Given the description of an element on the screen output the (x, y) to click on. 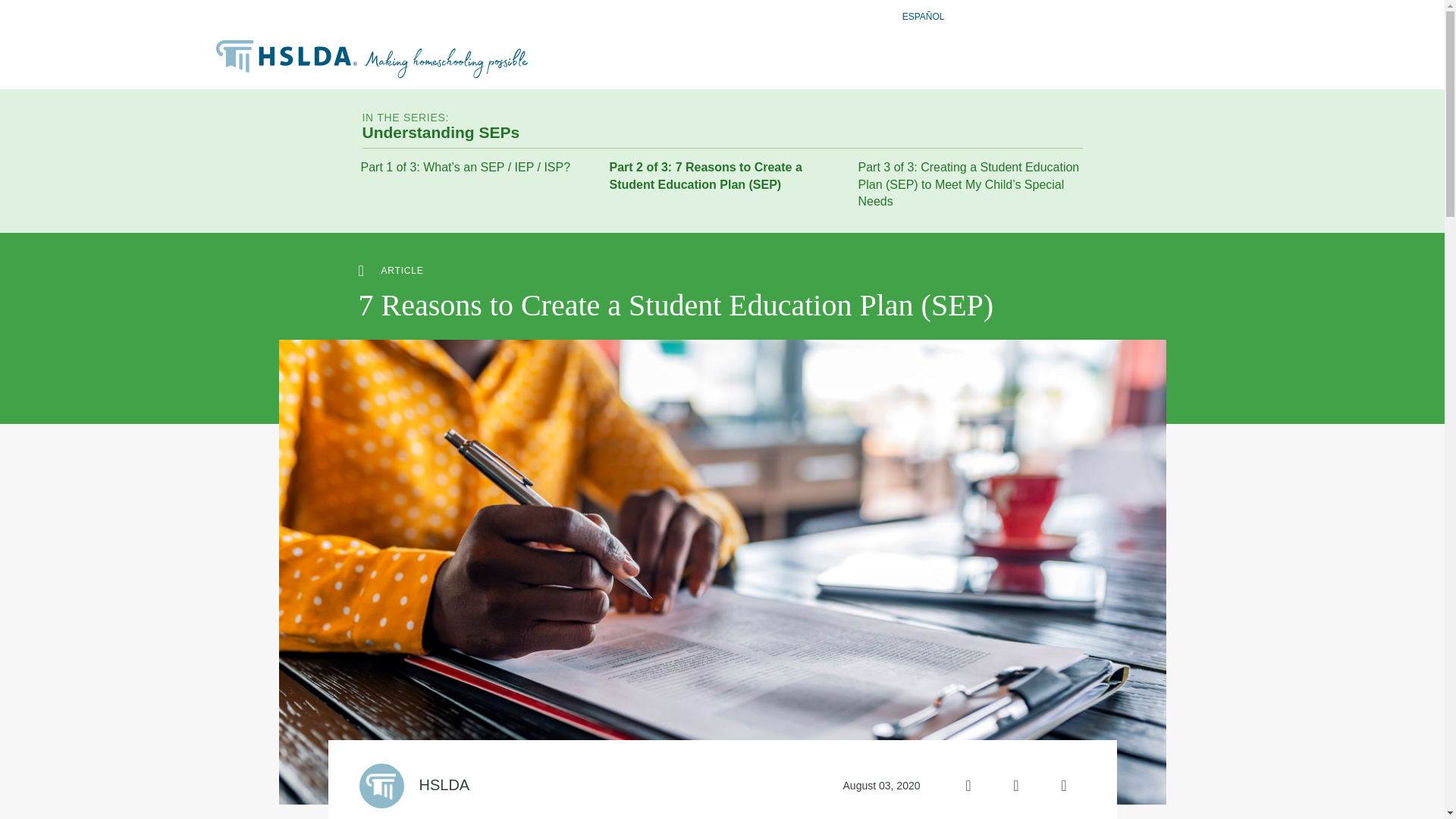
HSLDA (443, 784)
